Given the description of an element on the screen output the (x, y) to click on. 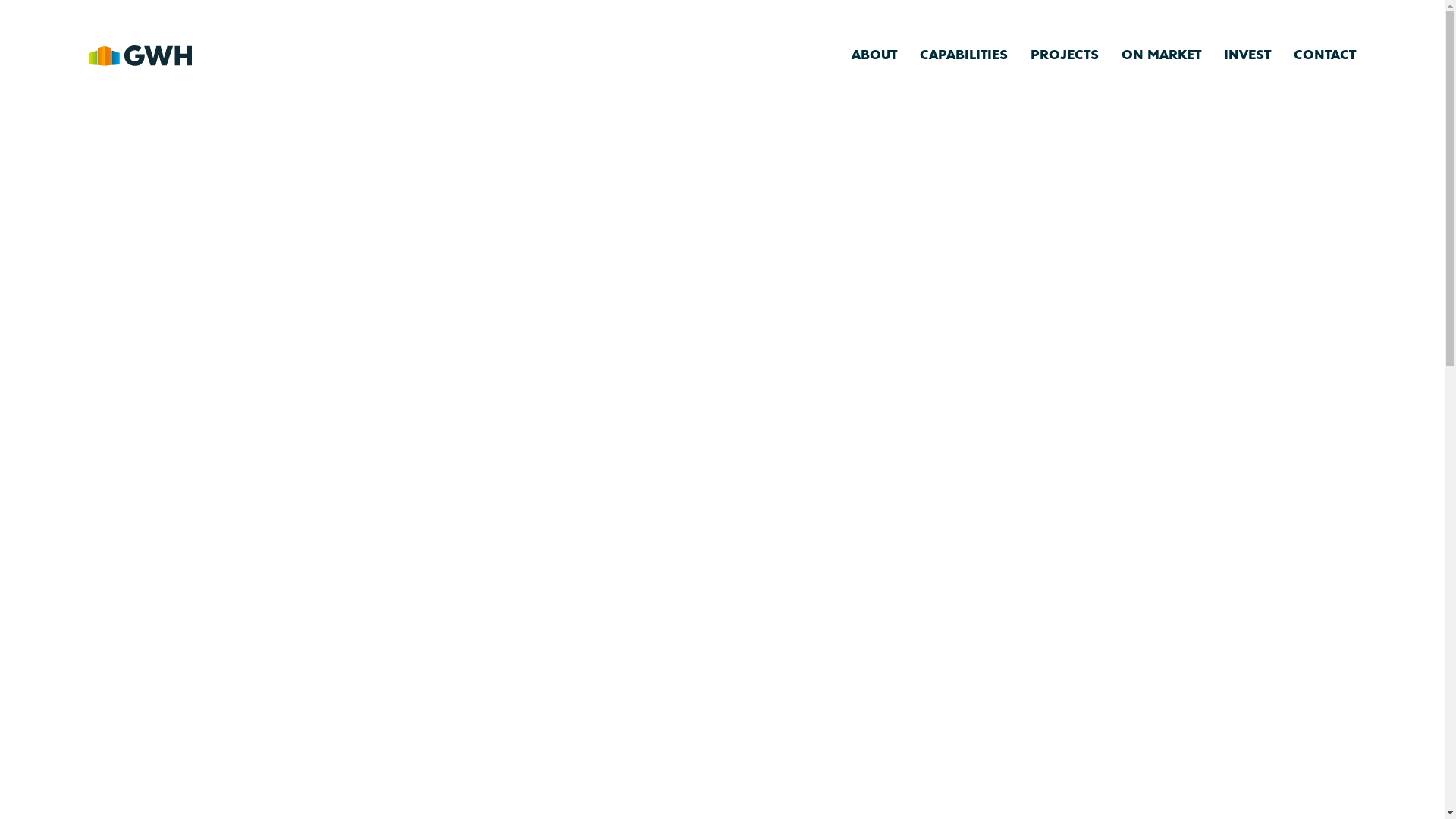
ON MARKET Element type: text (1160, 55)
CONTACT Element type: text (1324, 55)
